Given the description of an element on the screen output the (x, y) to click on. 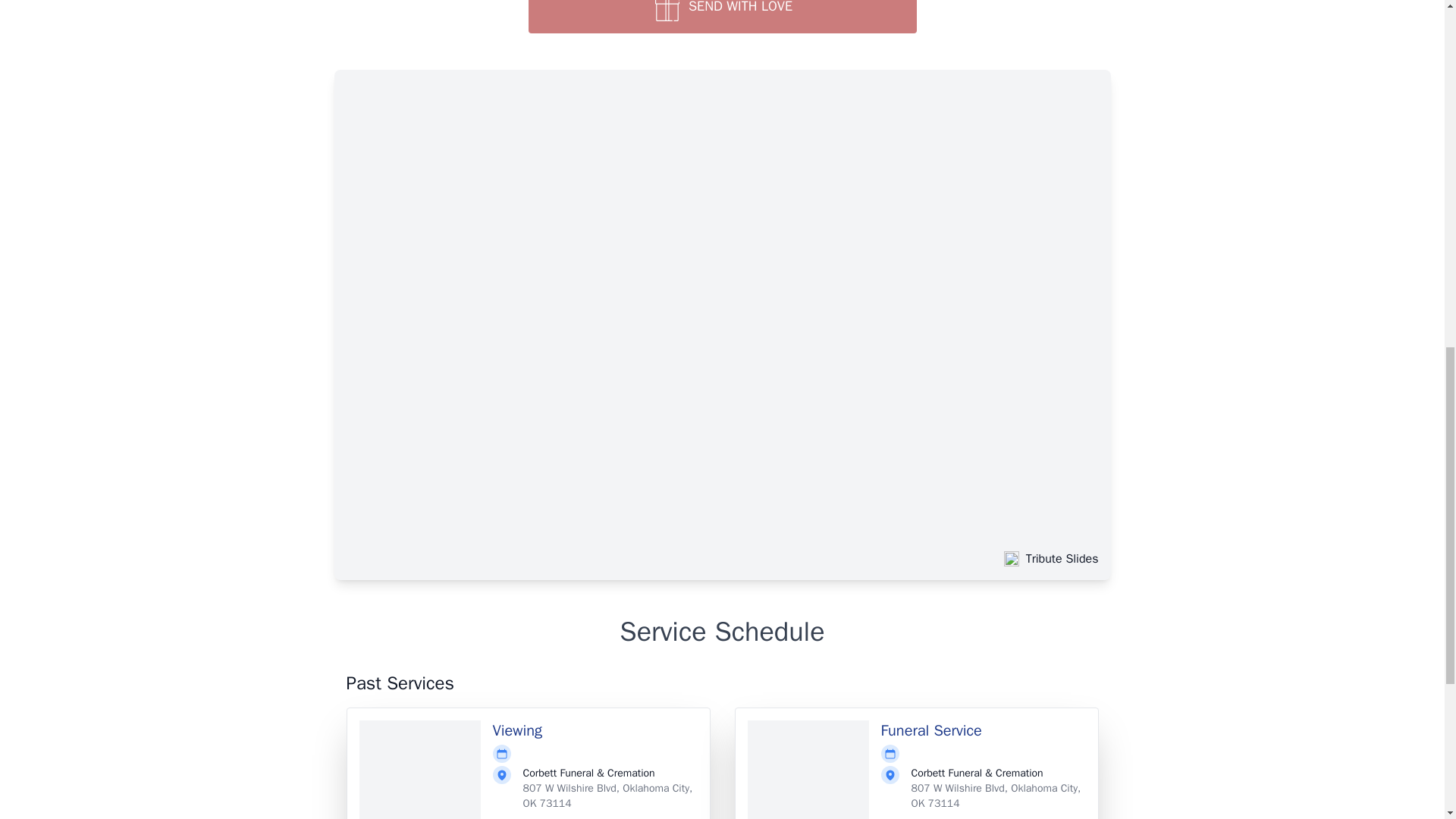
SEND WITH LOVE (721, 16)
807 W Wilshire Blvd, Oklahoma City, OK 73114 (996, 795)
807 W Wilshire Blvd, Oklahoma City, OK 73114 (607, 795)
